Given the description of an element on the screen output the (x, y) to click on. 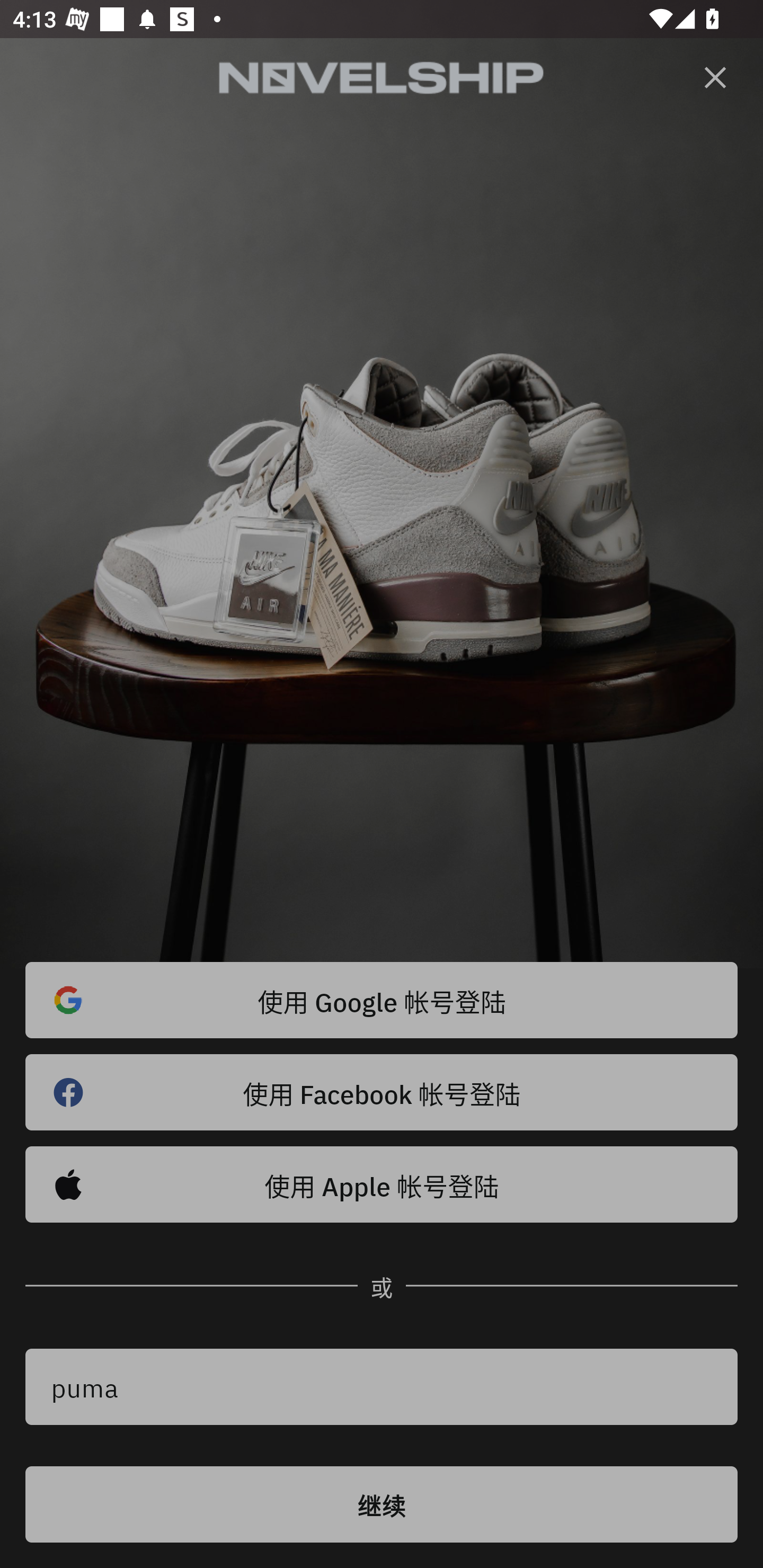
使用 Google 帐号登陆 (381, 1000)
使用 Facebook 帐号登陆 󰈌 (381, 1091)
 使用 Apple 帐号登陆 (381, 1184)
puma (381, 1386)
继续 (381, 1504)
